Given the description of an element on the screen output the (x, y) to click on. 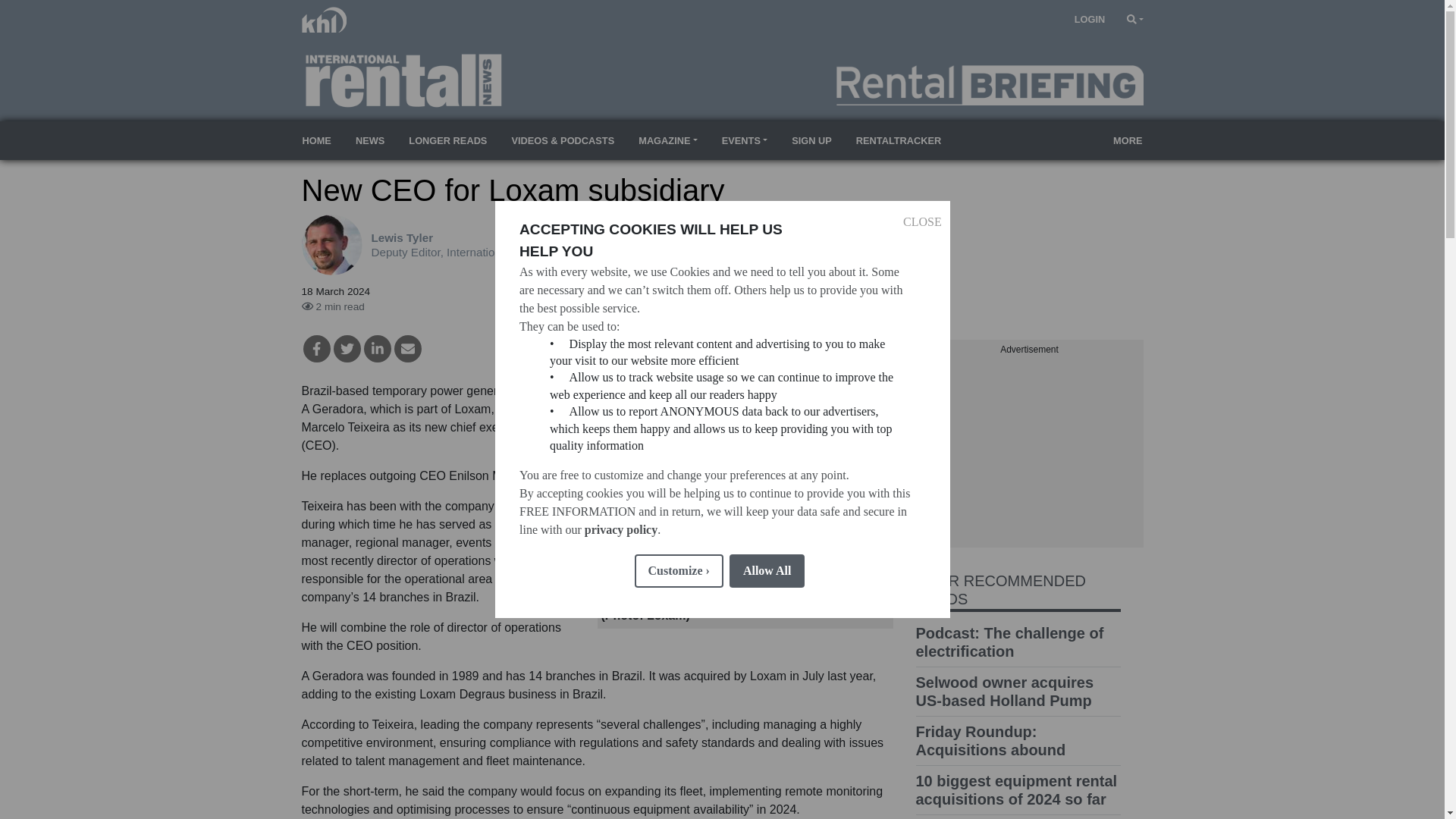
Share this page on Twitter (347, 348)
Share this page on Facebook (316, 348)
Share this page on Linkedin (377, 348)
3rd party ad content (1028, 452)
Share this page via email (408, 348)
